Given the description of an element on the screen output the (x, y) to click on. 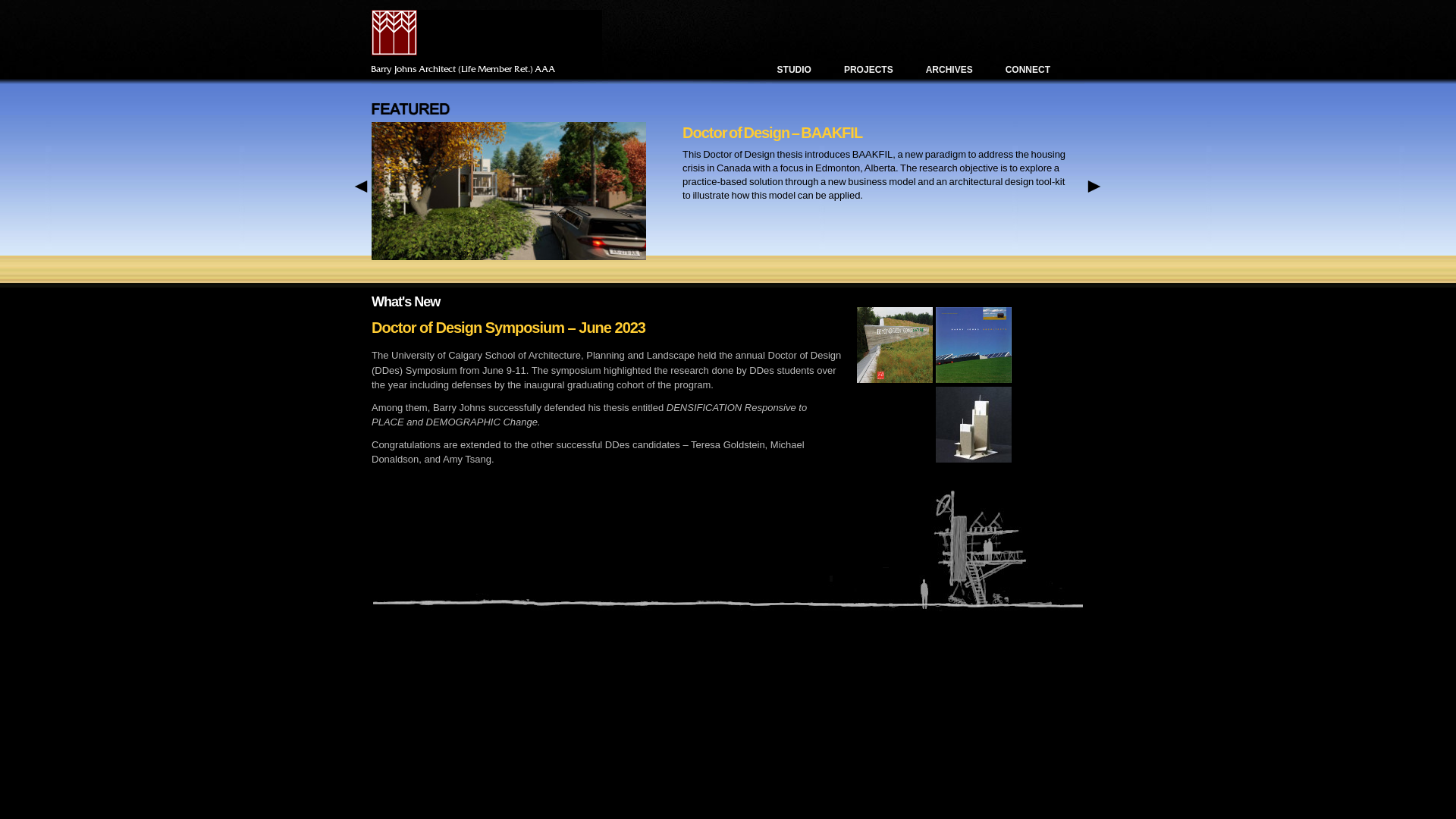
PROJECTS Element type: text (868, 69)
CONNECT Element type: text (1027, 69)
STUDIO Element type: text (794, 69)
Permanent Link to INFILLHAUS Element type: hover (234, 256)
ARCHIVES Element type: text (949, 69)
